Given the description of an element on the screen output the (x, y) to click on. 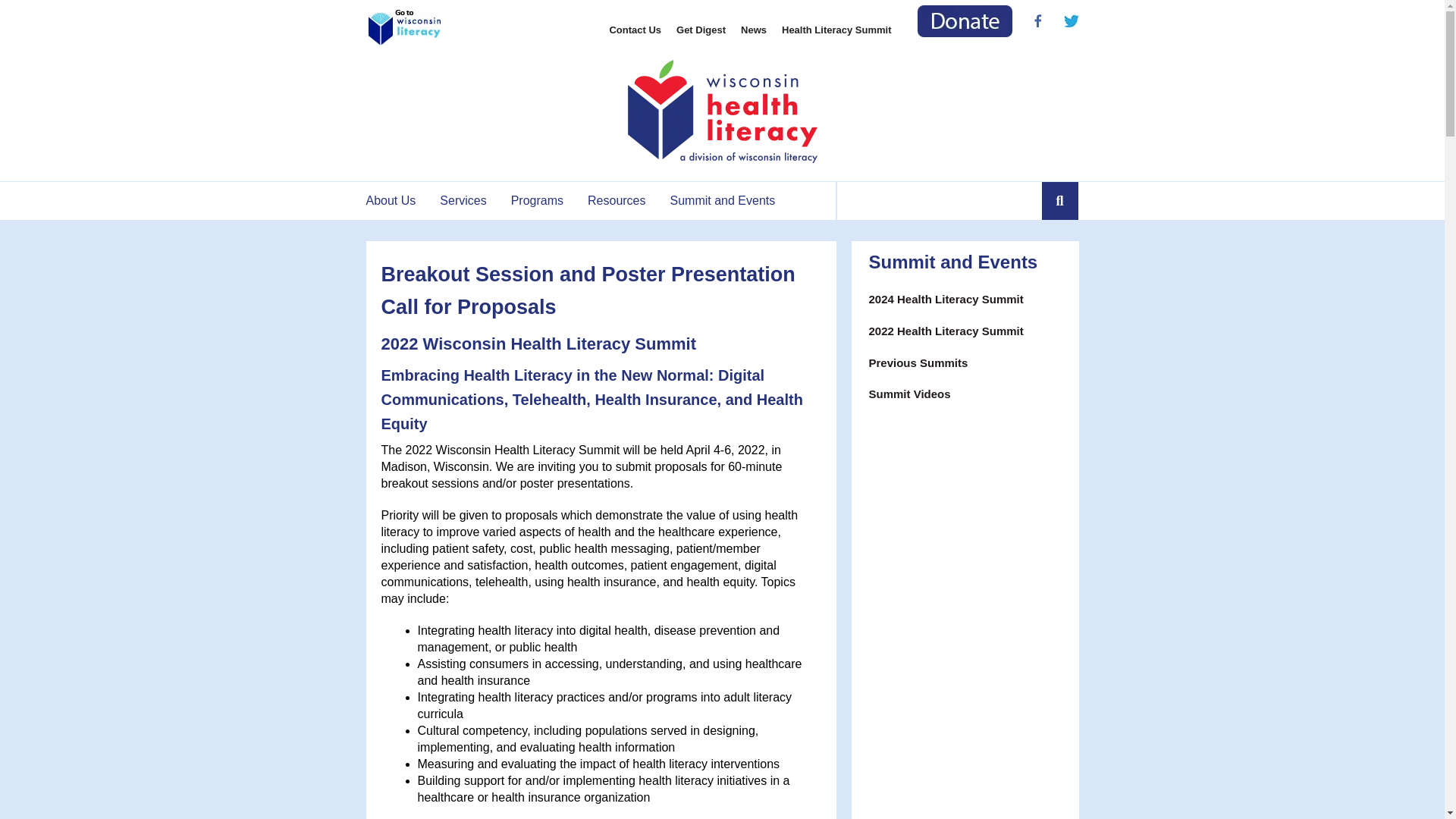
About Us (396, 200)
Services (462, 200)
News (753, 29)
Contact Us (634, 29)
Get Digest (700, 29)
Programs (537, 200)
Resources (616, 200)
Health Literacy Summit (836, 29)
